Given the description of an element on the screen output the (x, y) to click on. 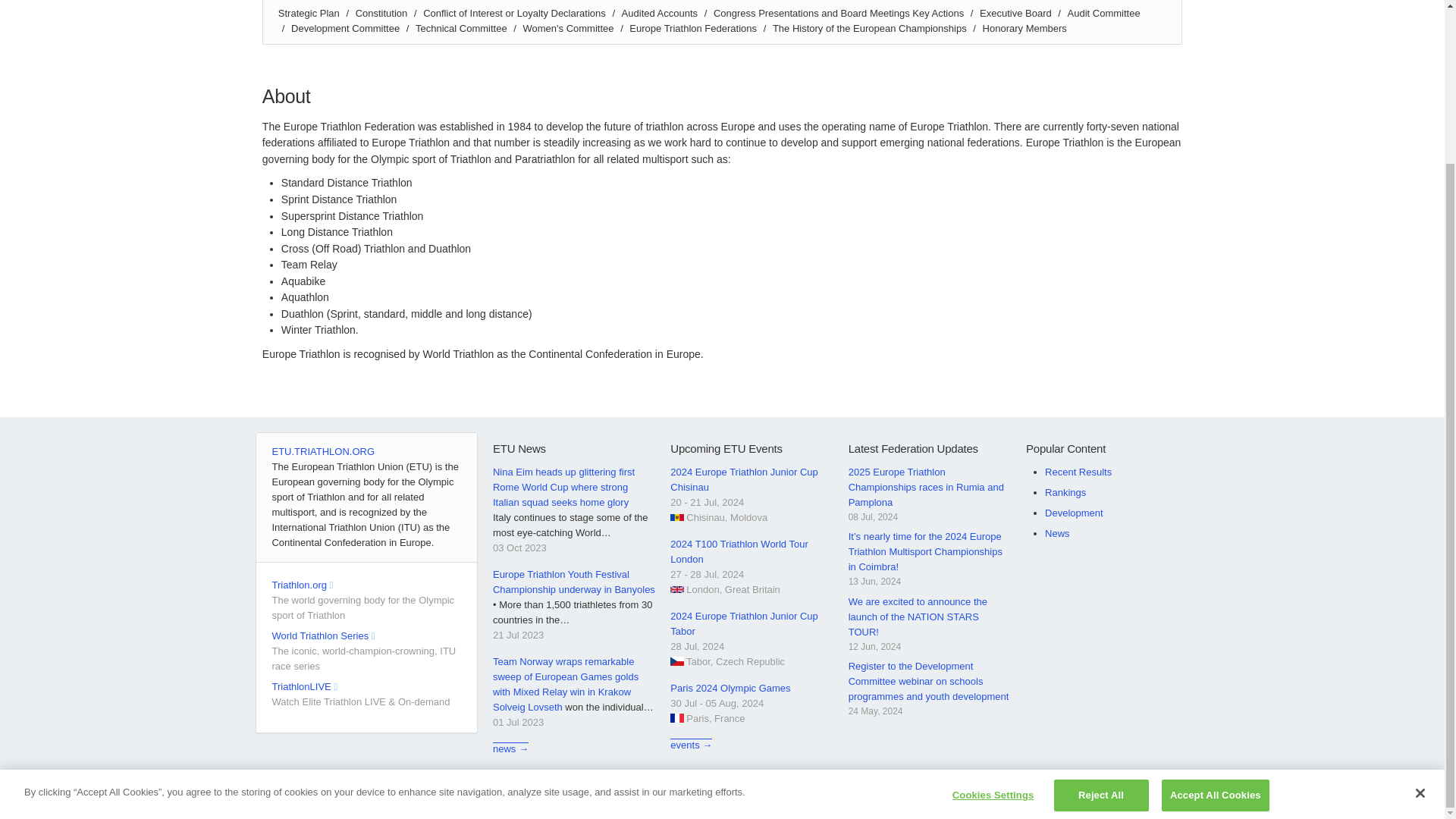
France flag (675, 718)
Moldova flag (675, 517)
Strategic Plan (308, 12)
Czech Republic flag (675, 661)
Great Britain flag (675, 589)
